Given the description of an element on the screen output the (x, y) to click on. 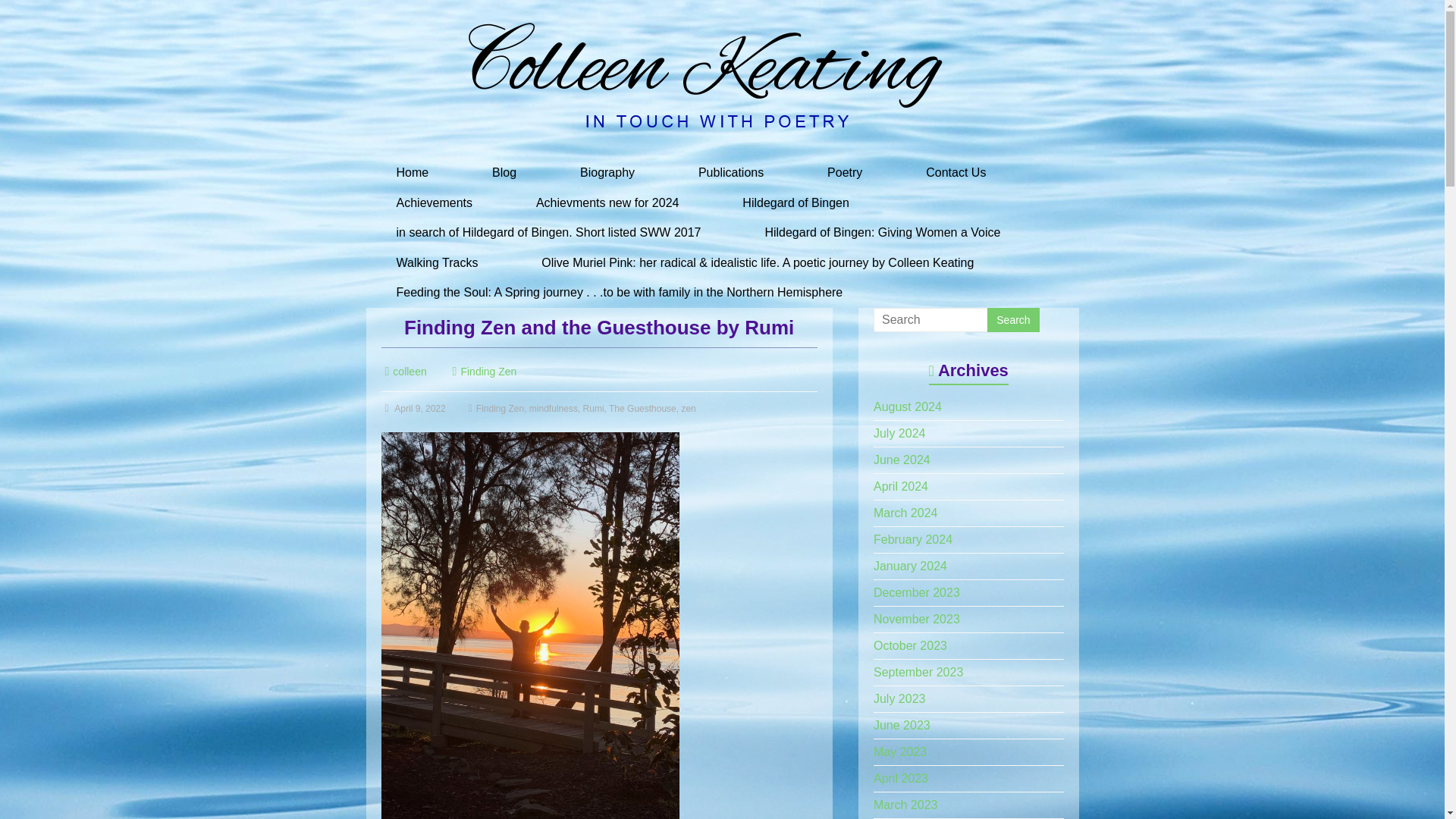
March 2024 (905, 512)
December 2023 (916, 592)
Home (411, 173)
Contact Us (955, 173)
Search (1013, 319)
June 2023 (901, 725)
Finding Zen (488, 371)
in search of Hildegard of Bingen. Short listed SWW 2017 (547, 232)
January 2024 (910, 565)
Rumi (593, 408)
